Given the description of an element on the screen output the (x, y) to click on. 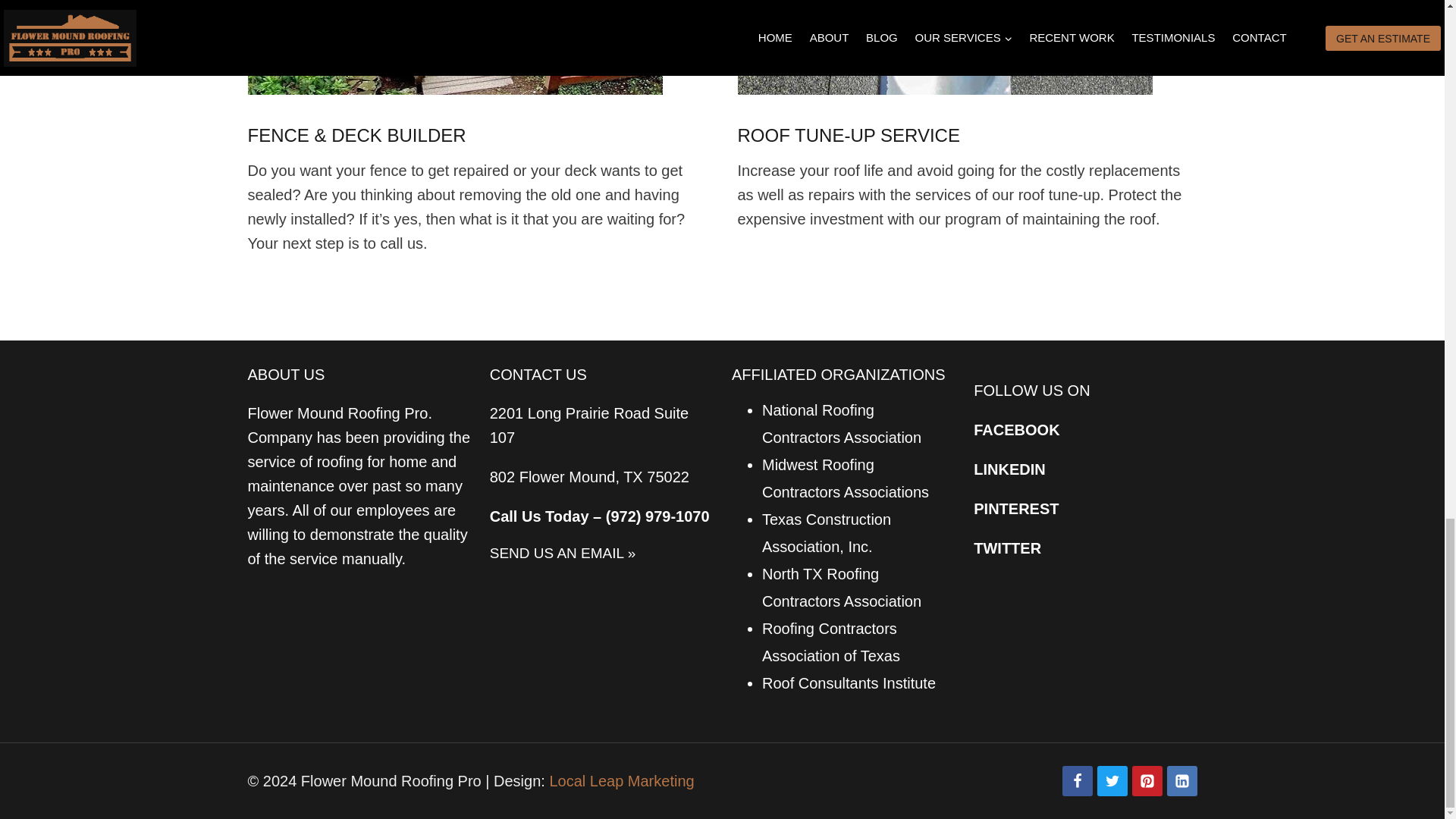
Local Leap Marketing (621, 781)
FACEBOOK (1016, 429)
PINTEREST (1016, 508)
ROOF TUNE-UP SERVICE (847, 135)
TWITTER (1007, 547)
LINKEDIN (1009, 469)
